Given the description of an element on the screen output the (x, y) to click on. 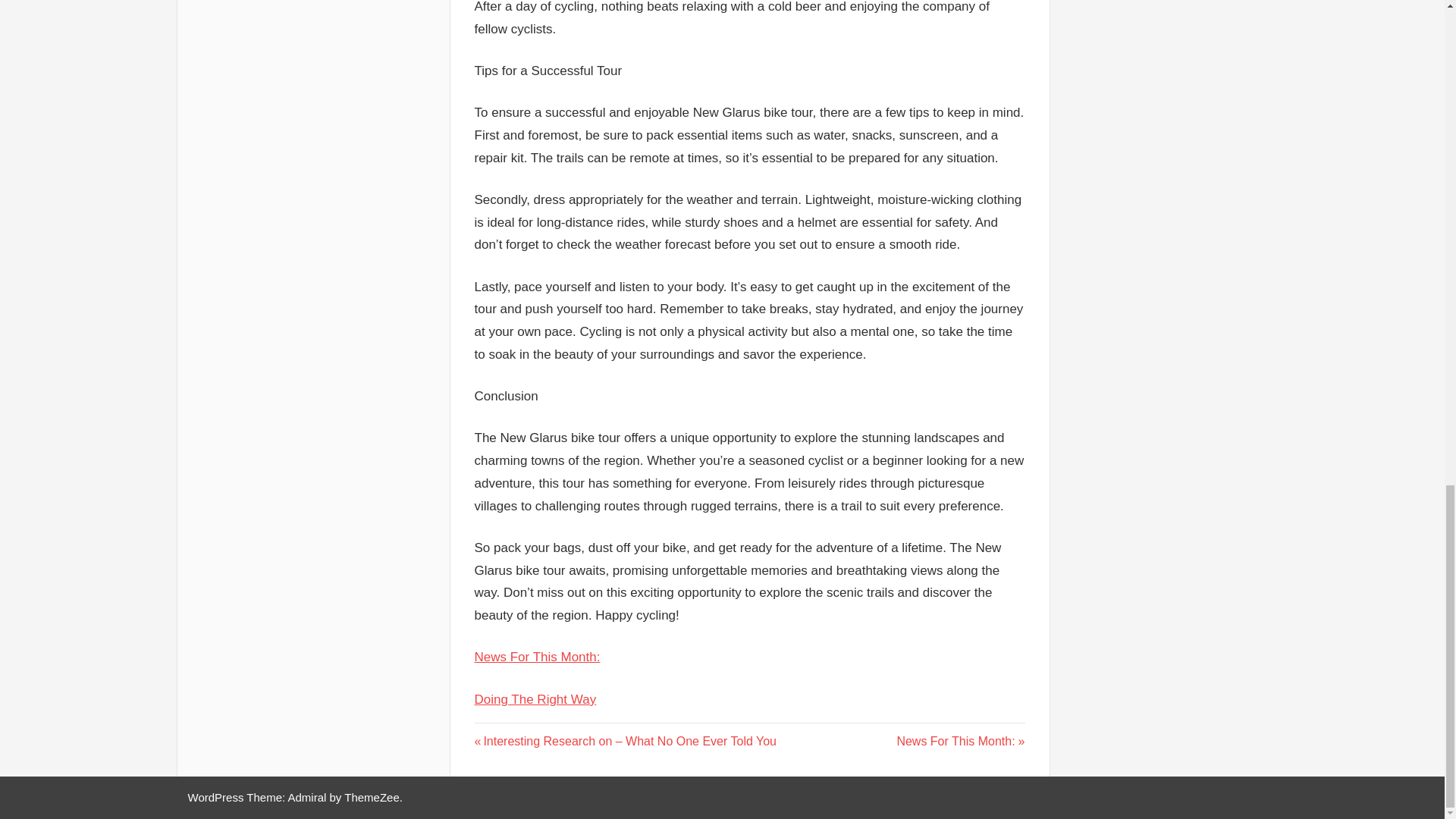
News For This Month: (960, 740)
Doing The Right Way (536, 657)
